Given the description of an element on the screen output the (x, y) to click on. 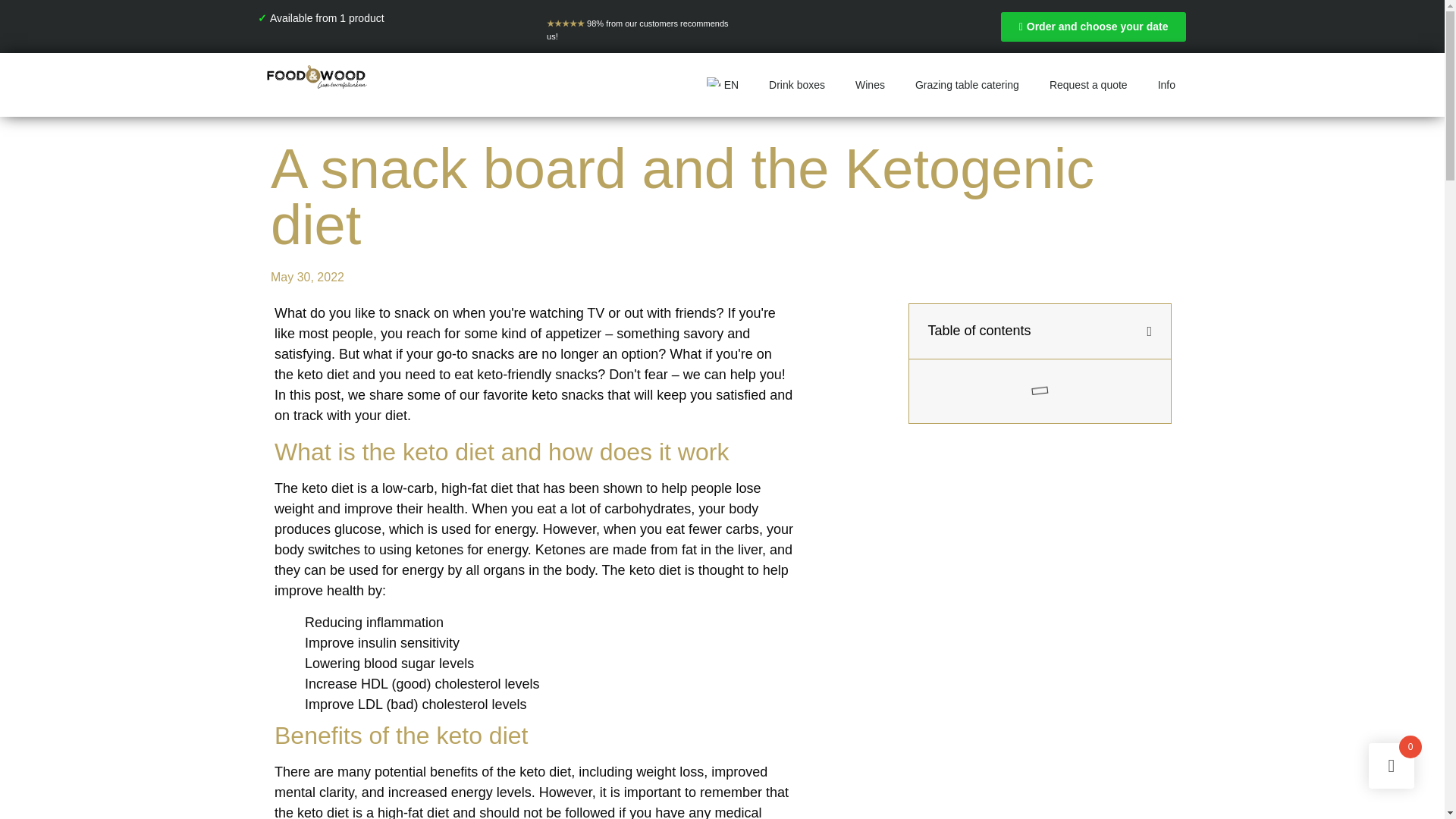
Request a quote (1087, 84)
EN (720, 84)
Order and choose your date (1093, 26)
Drink boxes (797, 84)
Wines (869, 84)
Info (1166, 84)
Grazing table catering (966, 84)
